Given the description of an element on the screen output the (x, y) to click on. 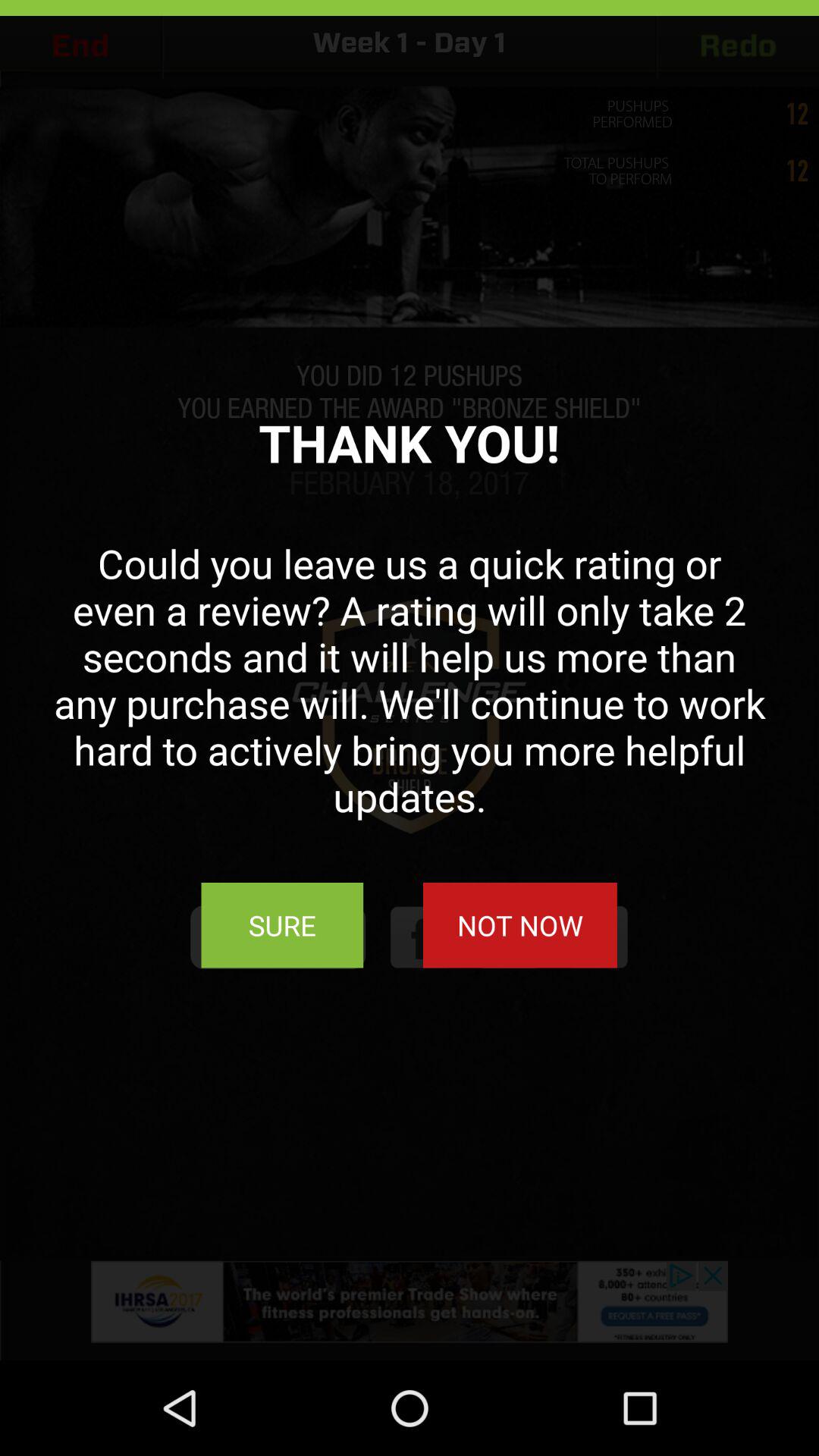
turn off the not now (520, 925)
